Given the description of an element on the screen output the (x, y) to click on. 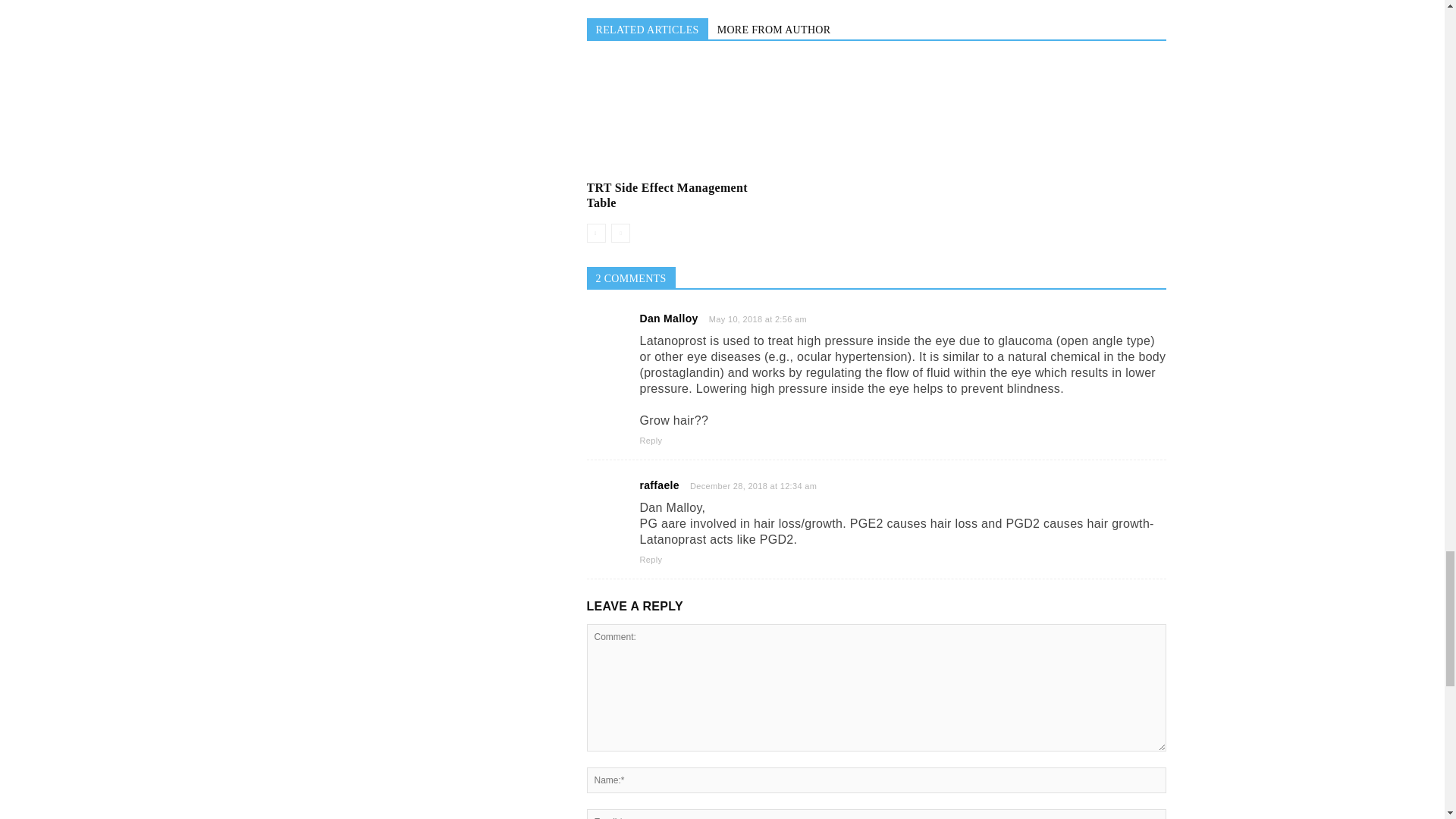
TRT Side Effect Management Table (667, 194)
TRT Side Effect Management Table (669, 118)
TRT Side Effect Management Table (678, 118)
